Given the description of an element on the screen output the (x, y) to click on. 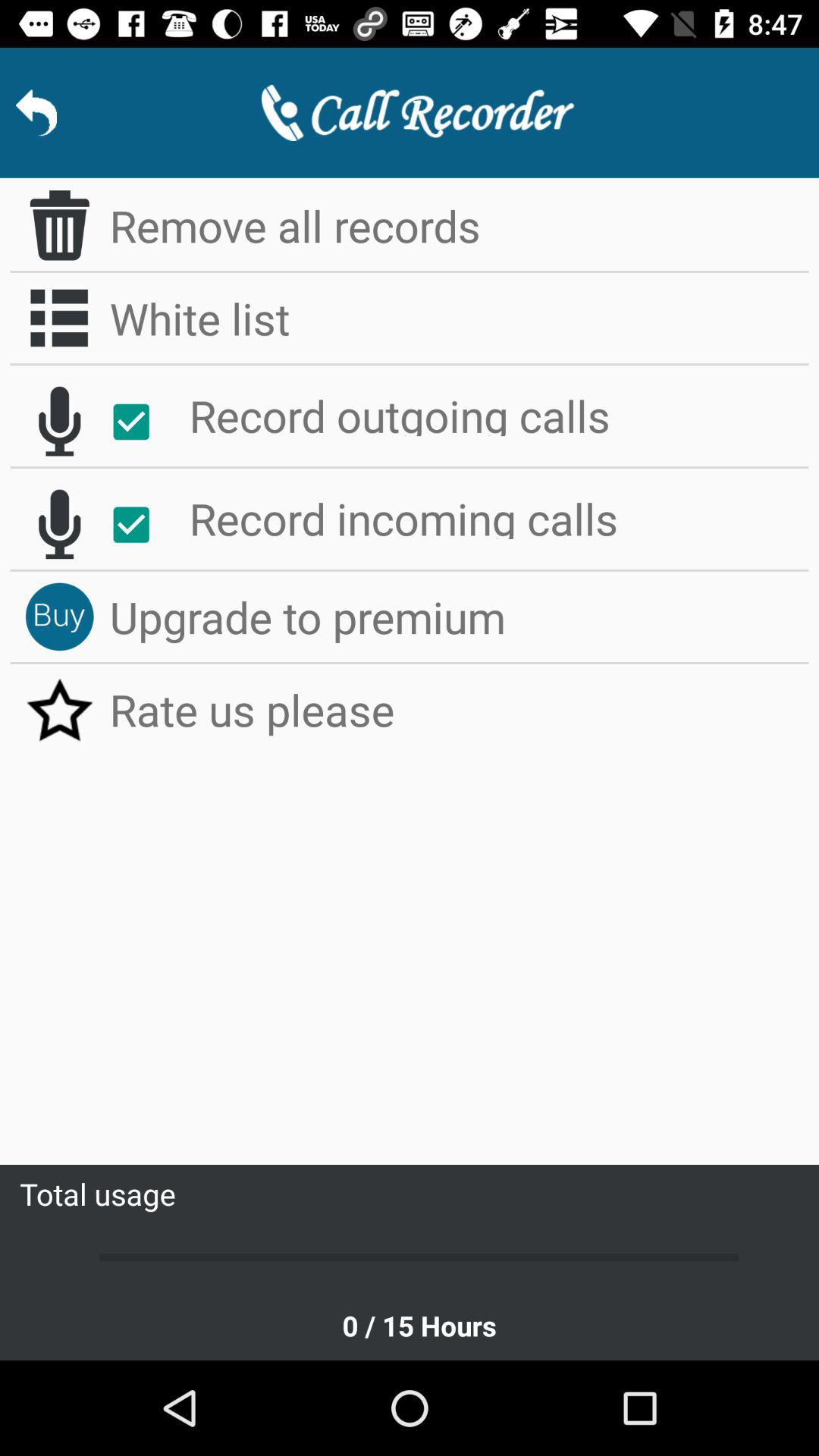
go to whitelist (59, 318)
